Given the description of an element on the screen output the (x, y) to click on. 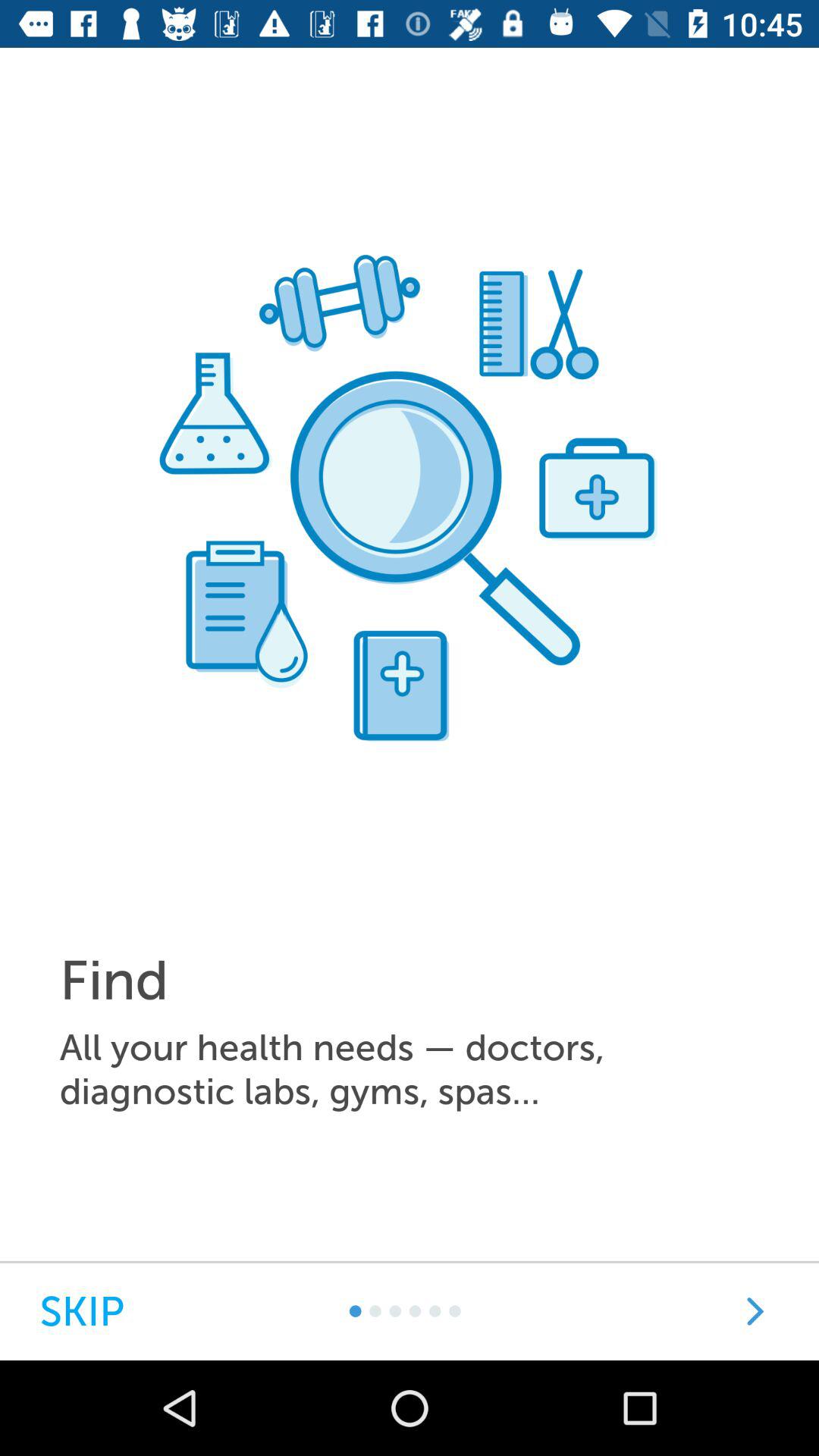
open the item at the bottom right corner (755, 1311)
